Given the description of an element on the screen output the (x, y) to click on. 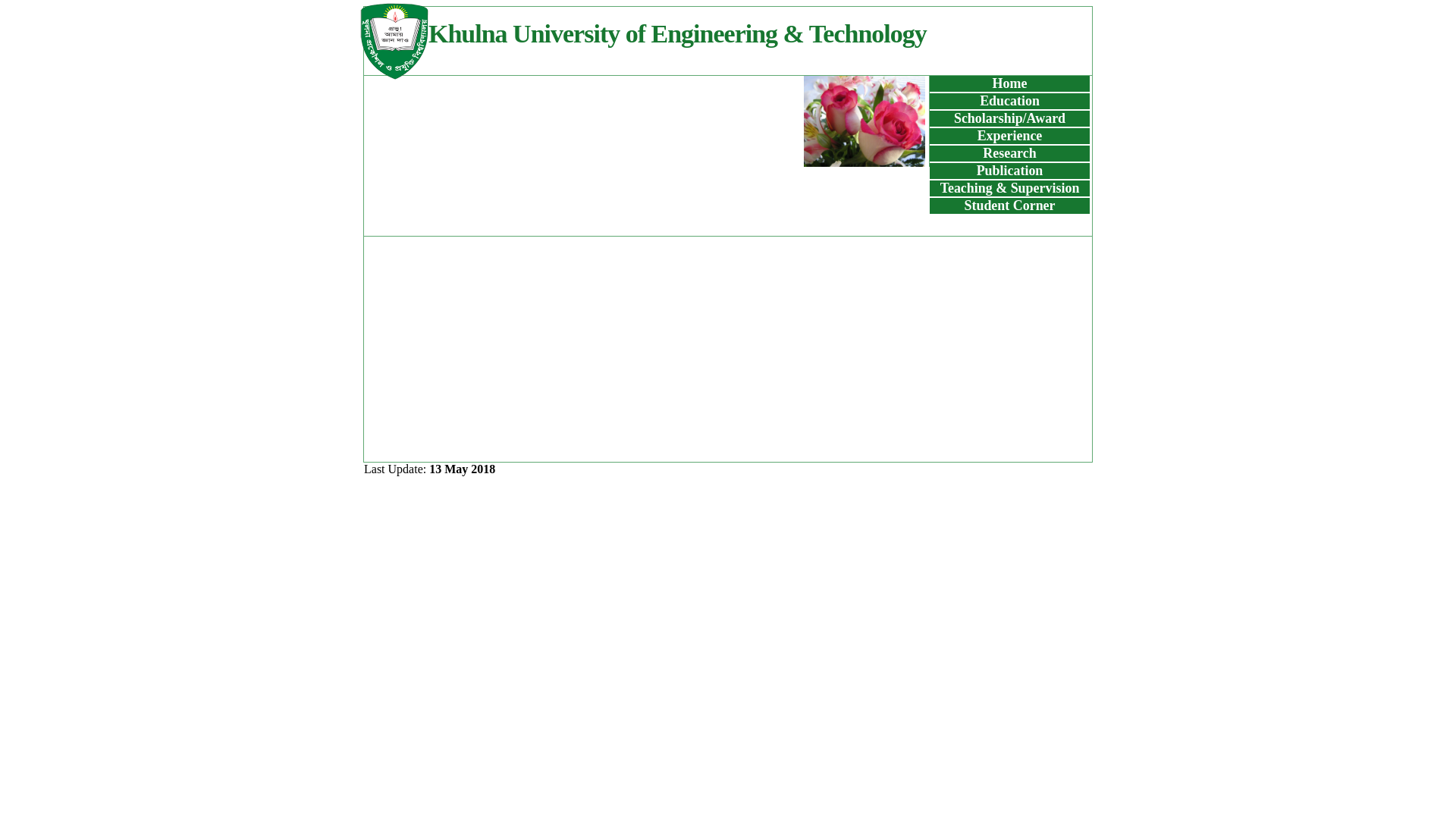
Research Element type: text (1008, 152)
Teaching & Supervision Element type: text (1009, 187)
Scholarship/Award Element type: text (1009, 117)
Publication Element type: text (1009, 170)
Home Element type: text (1009, 83)
Student Corner Element type: text (1008, 205)
Education Element type: text (1009, 100)
Experience Element type: text (1009, 135)
